Given the description of an element on the screen output the (x, y) to click on. 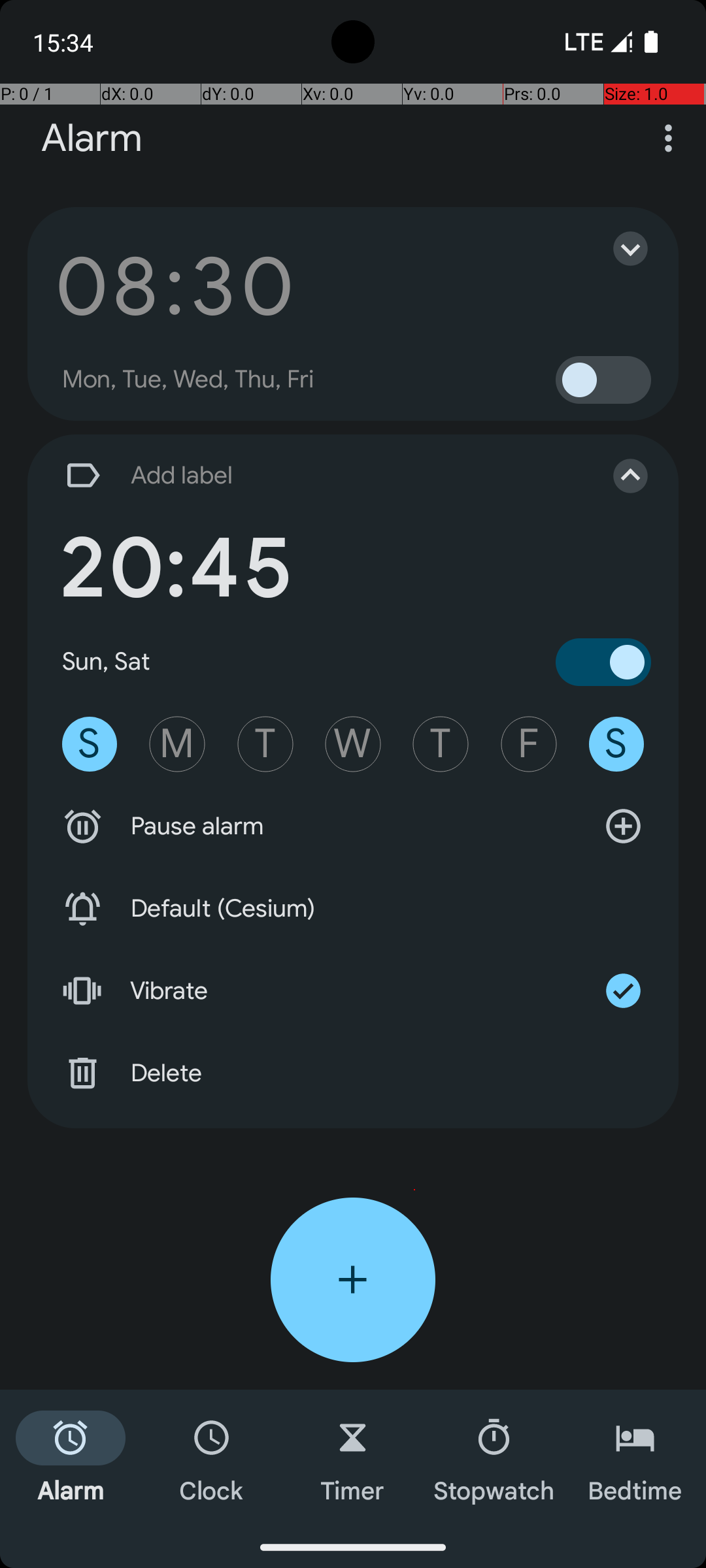
Add alarm Element type: android.widget.Button (352, 1279)
08:30 Element type: android.widget.TextView (174, 286)
Expand alarm Element type: android.widget.ImageButton (616, 248)
Mon, Tue, Wed, Thu, Fri Element type: android.widget.TextView (187, 379)
Add label Element type: android.widget.TextView (318, 475)
Collapse alarm Element type: android.widget.ImageButton (616, 475)
20:45 Element type: android.widget.TextView (174, 568)
Sun, Sat Element type: android.widget.TextView (106, 661)
S Element type: android.widget.CheckBox (89, 743)
M Element type: android.widget.CheckBox (176, 743)
T Element type: android.widget.CheckBox (265, 743)
W Element type: android.widget.CheckBox (352, 743)
F Element type: android.widget.CheckBox (528, 743)
Pause alarm Element type: android.widget.TextView (352, 826)
Default (Cesium) Element type: android.widget.TextView (352, 908)
Vibrate Element type: android.widget.CheckBox (352, 990)
